Given the description of an element on the screen output the (x, y) to click on. 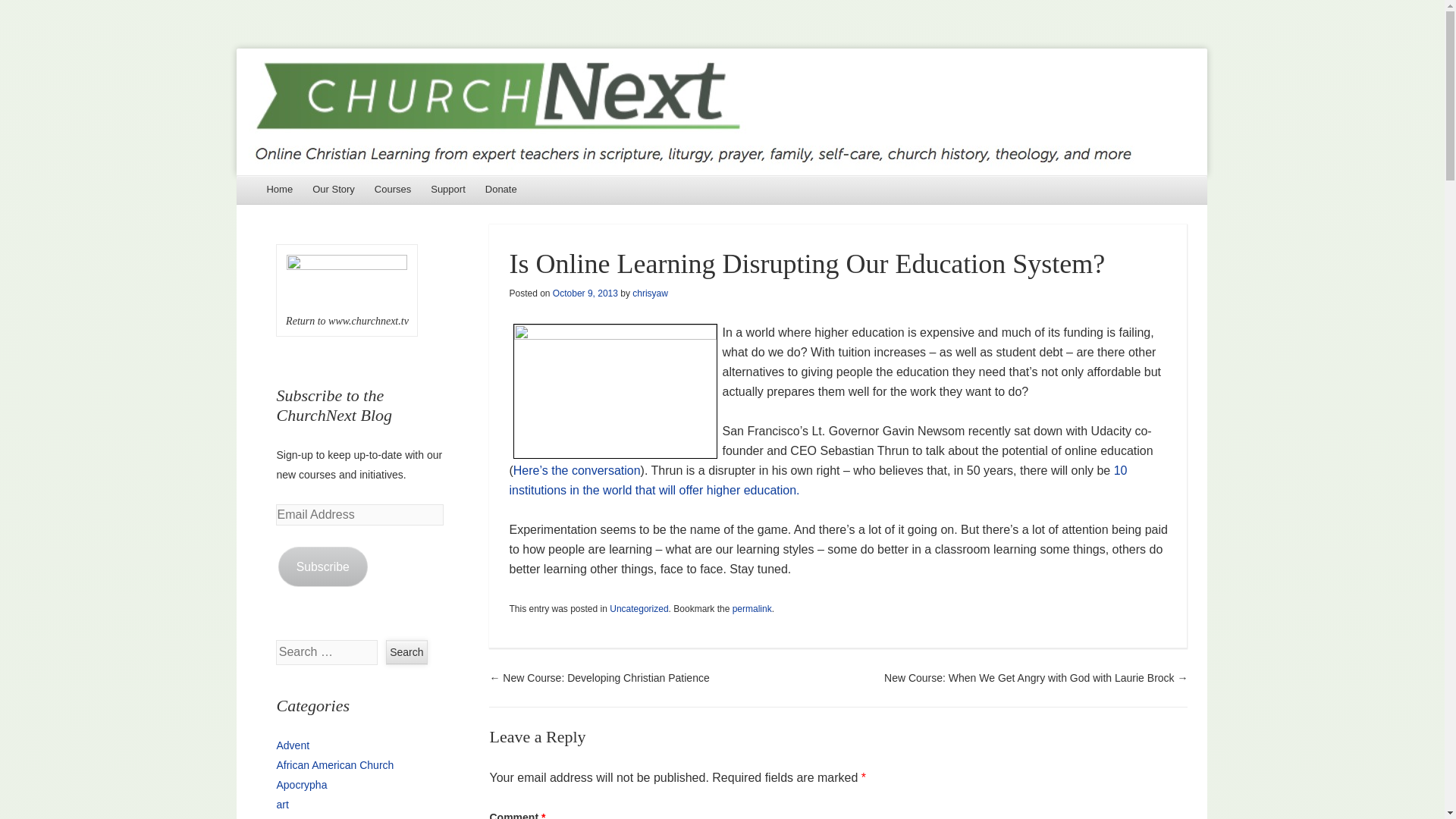
Subscribe (323, 567)
art (282, 804)
Courses (392, 189)
ChurchNext (721, 111)
African American Church (334, 765)
Search (406, 652)
Advent (292, 745)
permalink (751, 608)
Uncategorized (639, 608)
Apocrypha (301, 784)
Skip to content (278, 189)
Search (406, 652)
